Given the description of an element on the screen output the (x, y) to click on. 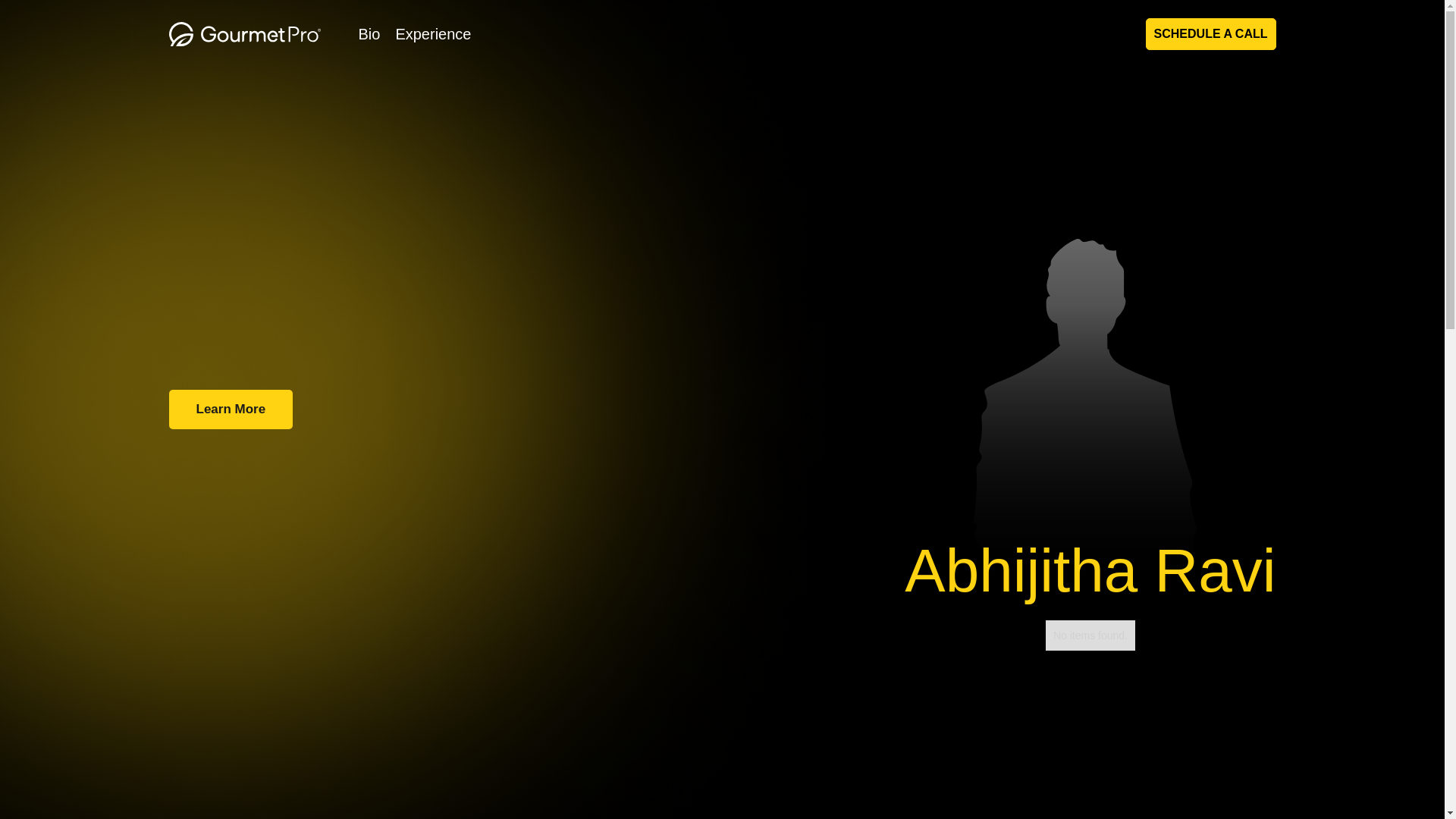
SCHEDULE A CALL (1210, 33)
Learn More (230, 409)
Experience (433, 33)
